Given the description of an element on the screen output the (x, y) to click on. 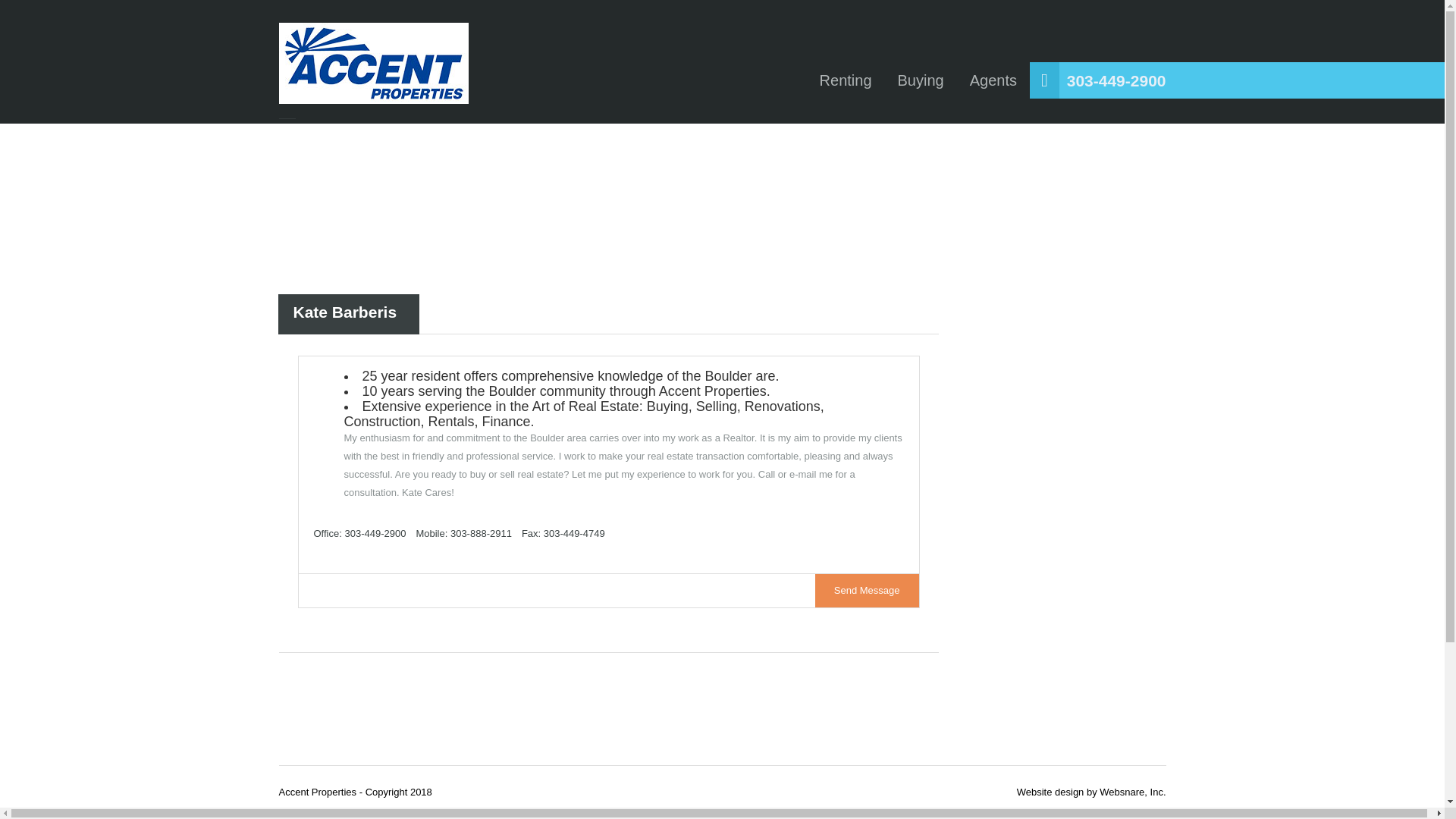
Agents (992, 80)
Buying (920, 80)
Send Message (866, 589)
ACCENT PROPERTIES (373, 63)
Renting (845, 80)
